Given the description of an element on the screen output the (x, y) to click on. 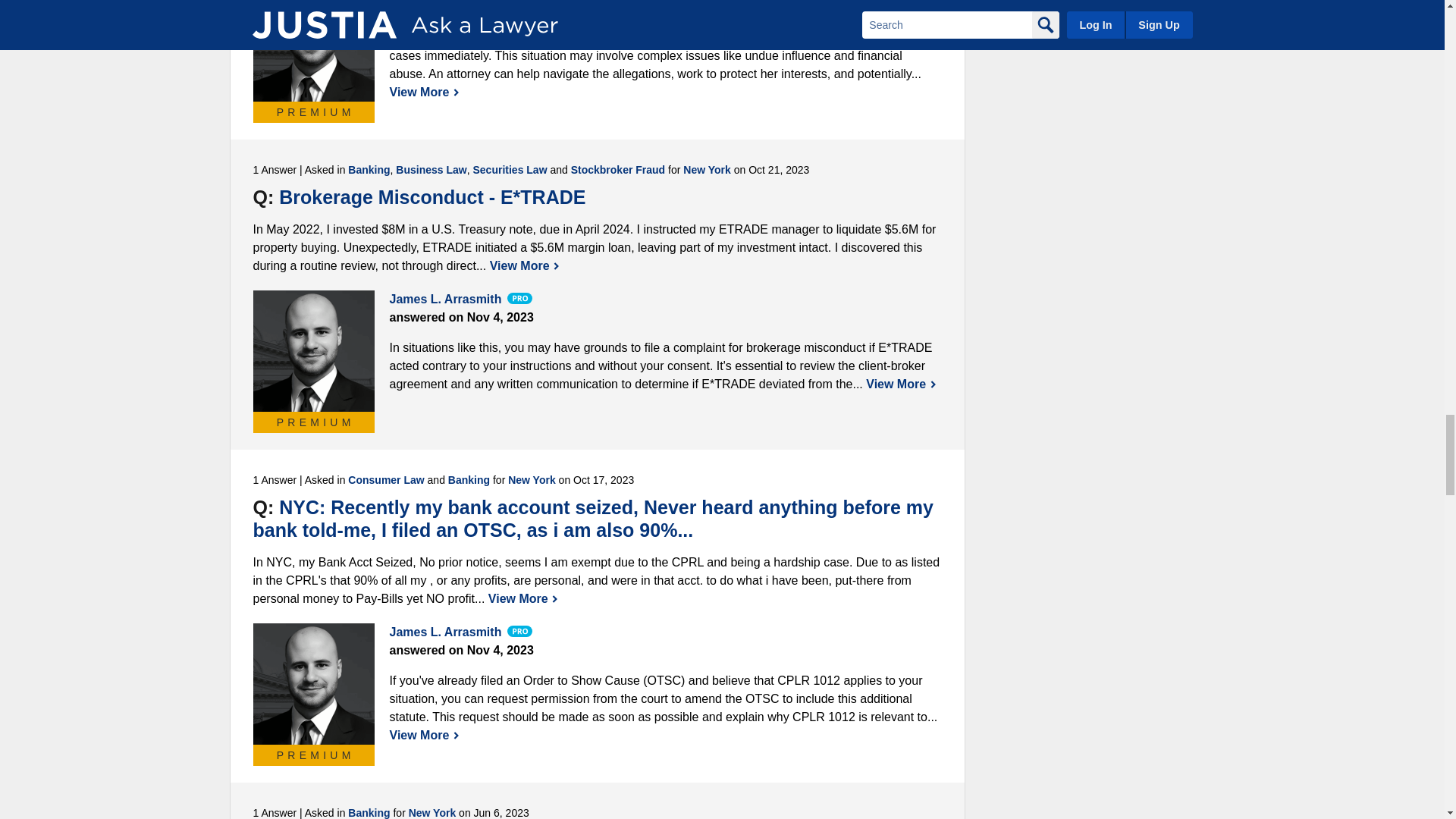
James L. Arrasmith (313, 683)
James L. Arrasmith (313, 350)
James L. Arrasmith (313, 50)
